Given the description of an element on the screen output the (x, y) to click on. 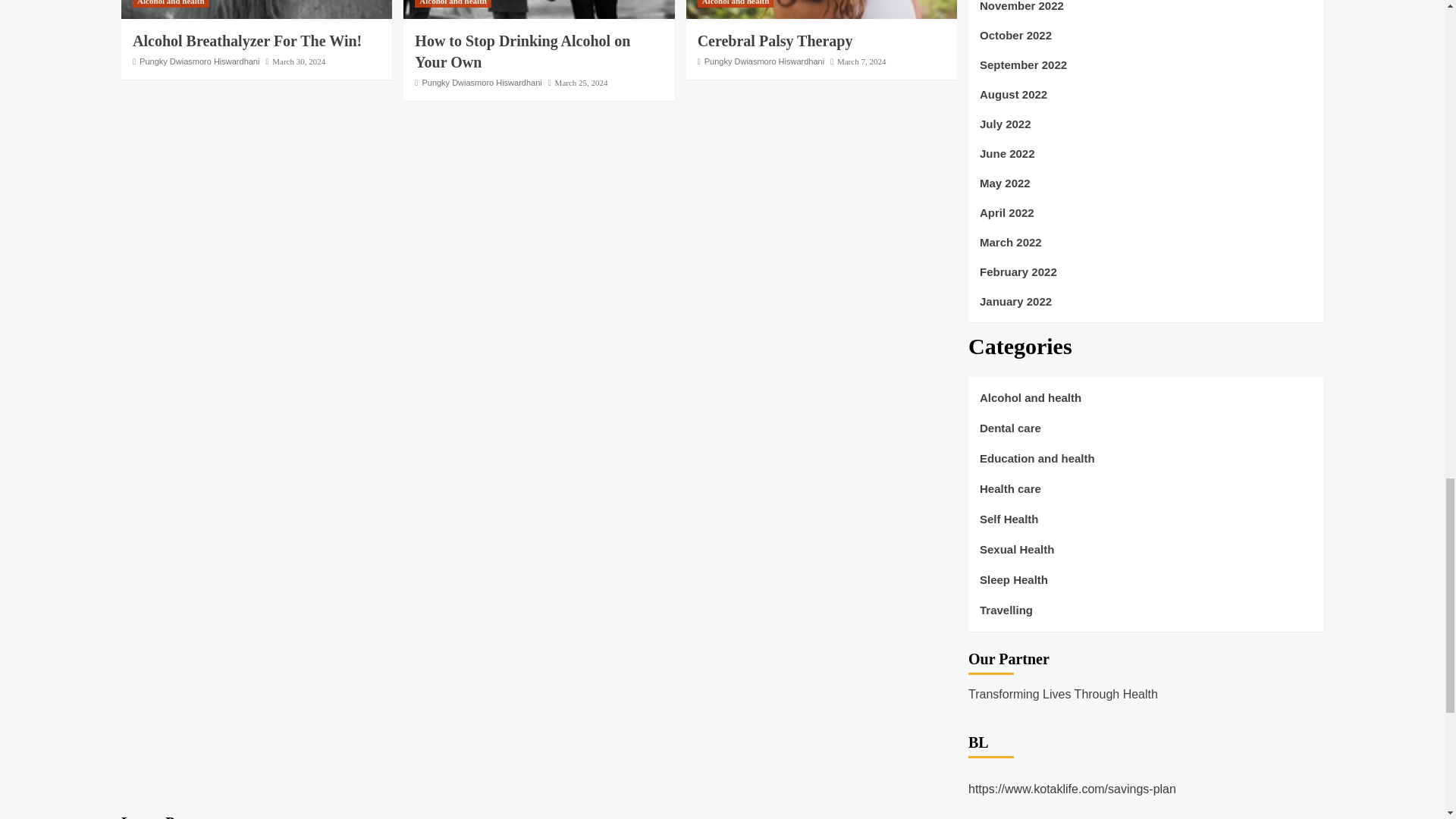
How to Stop Drinking Alcohol on Your Own (538, 9)
Alcohol and health (453, 3)
Cerebral Palsy Therapy (820, 9)
Alcohol Breathalyzer For The Win! (246, 40)
Pungky Dwiasmoro Hiswardhani (199, 61)
March 7, 2024 (861, 61)
March 30, 2024 (298, 61)
Cerebral Palsy Therapy (775, 40)
Alcohol and health (735, 3)
Alcohol Breathalyzer For The Win! (255, 9)
